Given the description of an element on the screen output the (x, y) to click on. 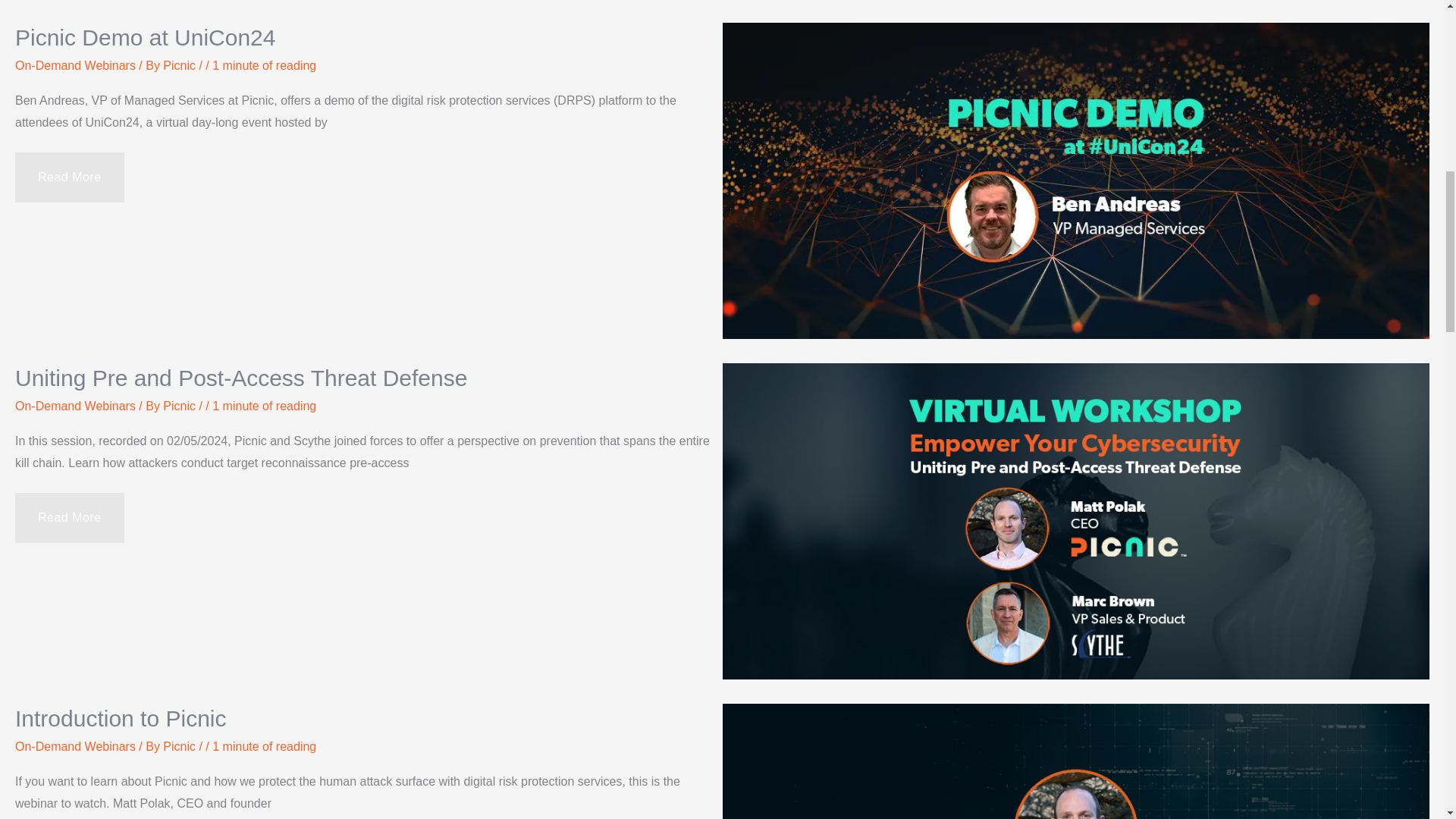
View all posts by Picnic (180, 65)
View all posts by Picnic (180, 405)
View all posts by Picnic (180, 746)
